Given the description of an element on the screen output the (x, y) to click on. 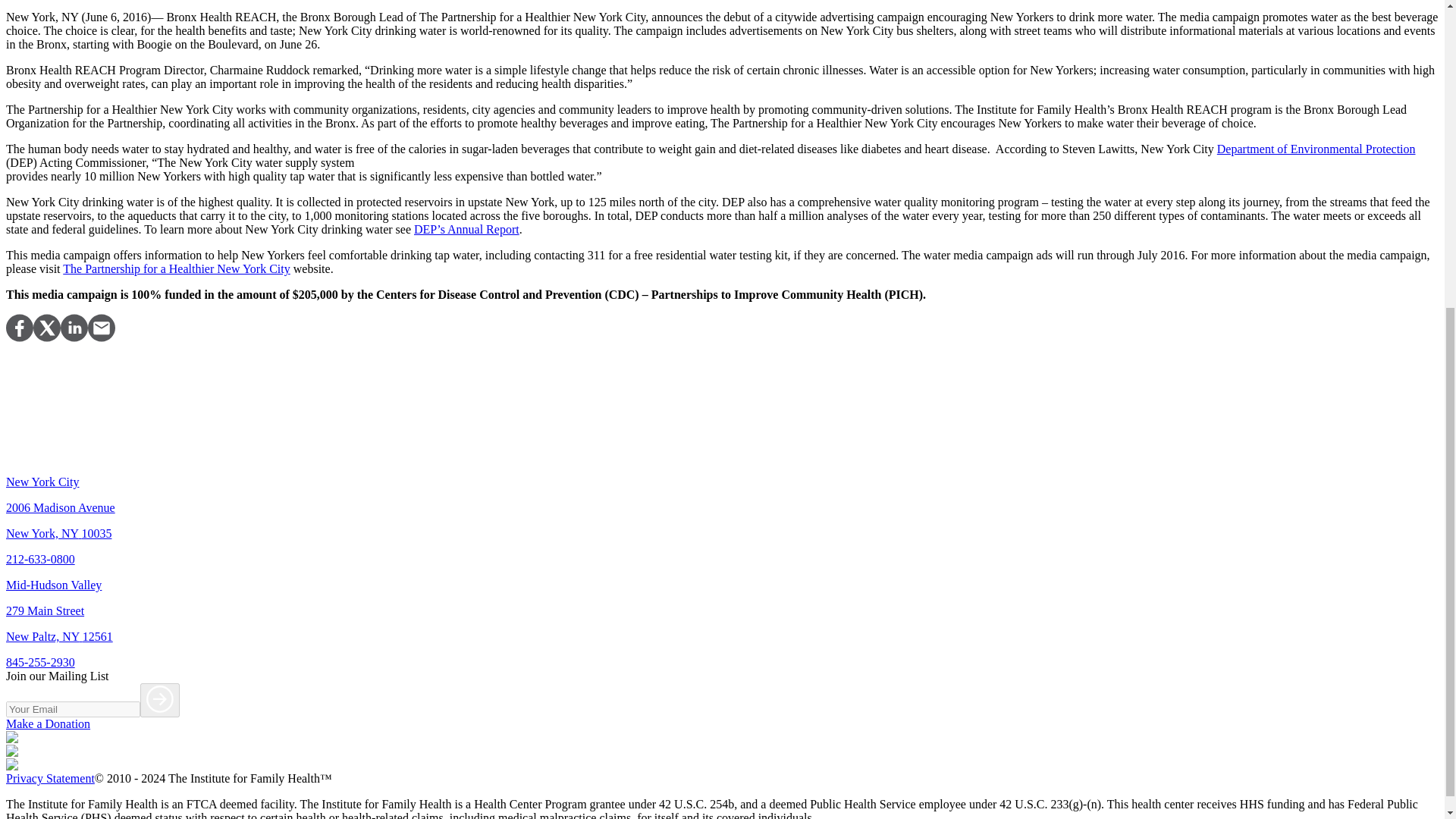
845-255-2930 (40, 662)
Make a Donation (47, 723)
Privacy Statement (49, 778)
212-633-0800 (40, 558)
Department of Environmental Protection (1316, 148)
The Partnership for a Healthier New York City (175, 268)
